Given the description of an element on the screen output the (x, y) to click on. 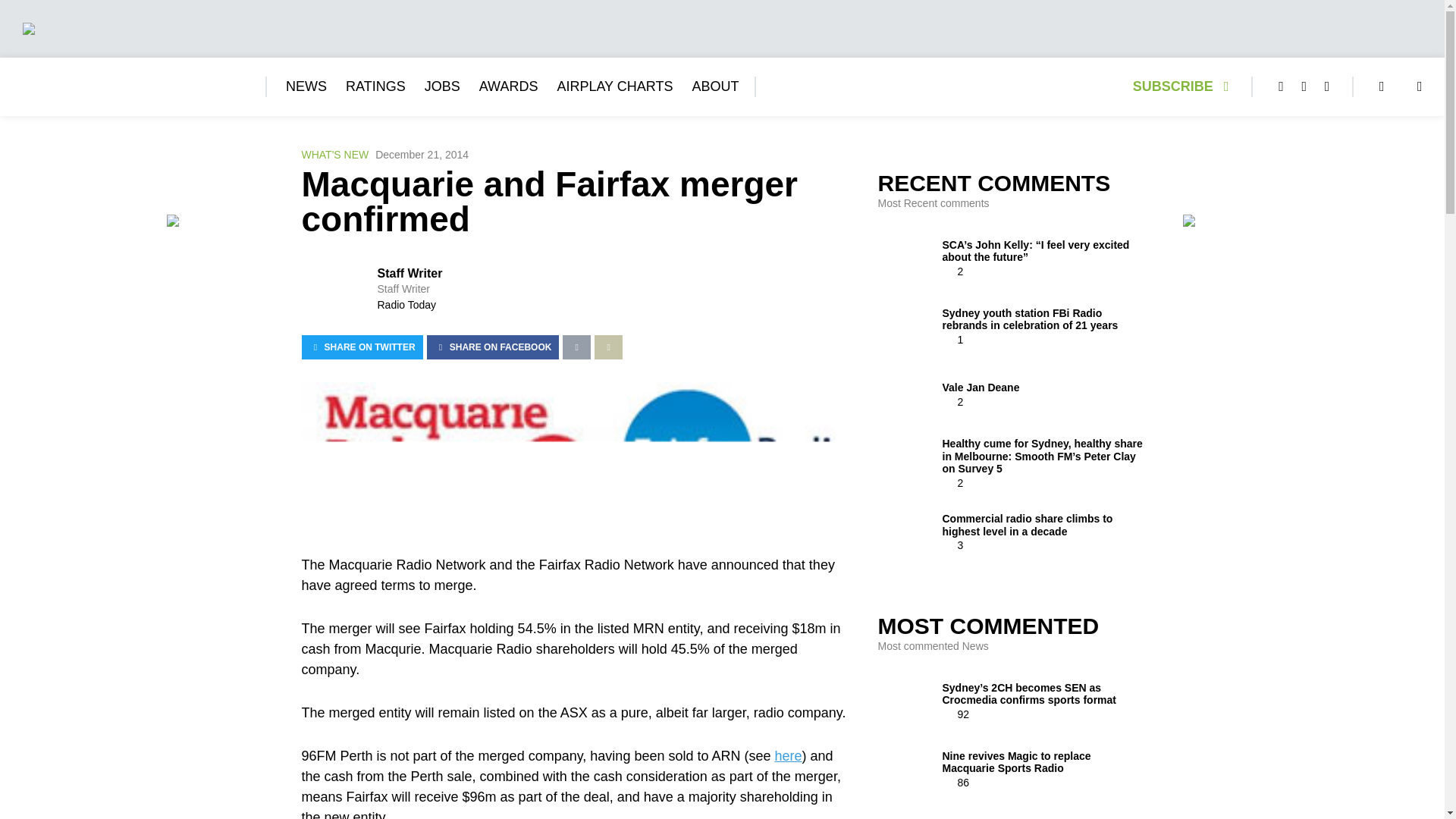
Radio Today (406, 304)
WHAT'S NEW (335, 154)
AWARDS (508, 86)
AIRPLAY CHARTS (614, 86)
RATINGS (376, 86)
Close (1427, 16)
Staff Writer (409, 273)
JOBS (442, 86)
NEWS (305, 86)
SUBSCRIBE (1184, 86)
